Given the description of an element on the screen output the (x, y) to click on. 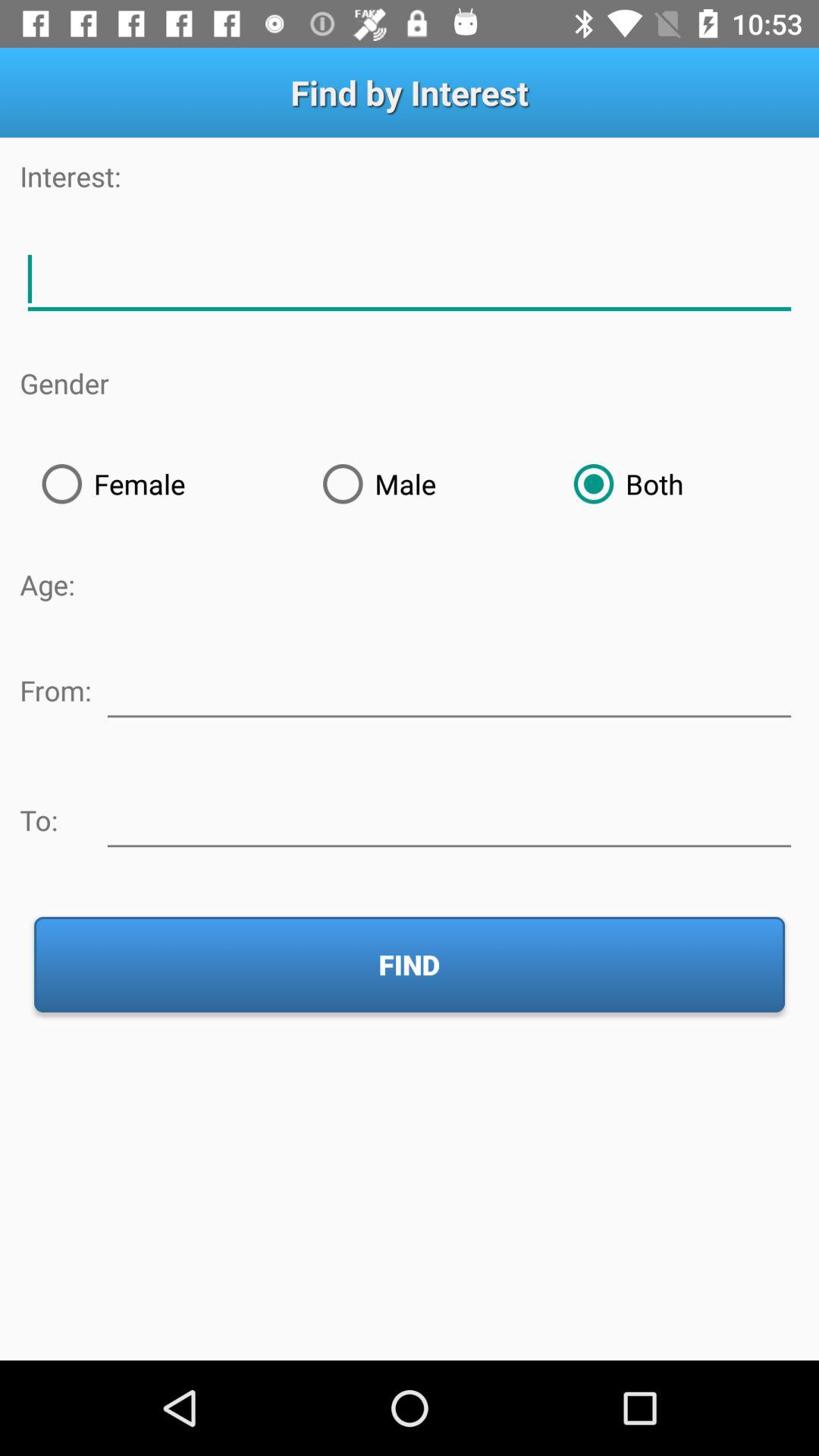
press icon next to female item (426, 483)
